Given the description of an element on the screen output the (x, y) to click on. 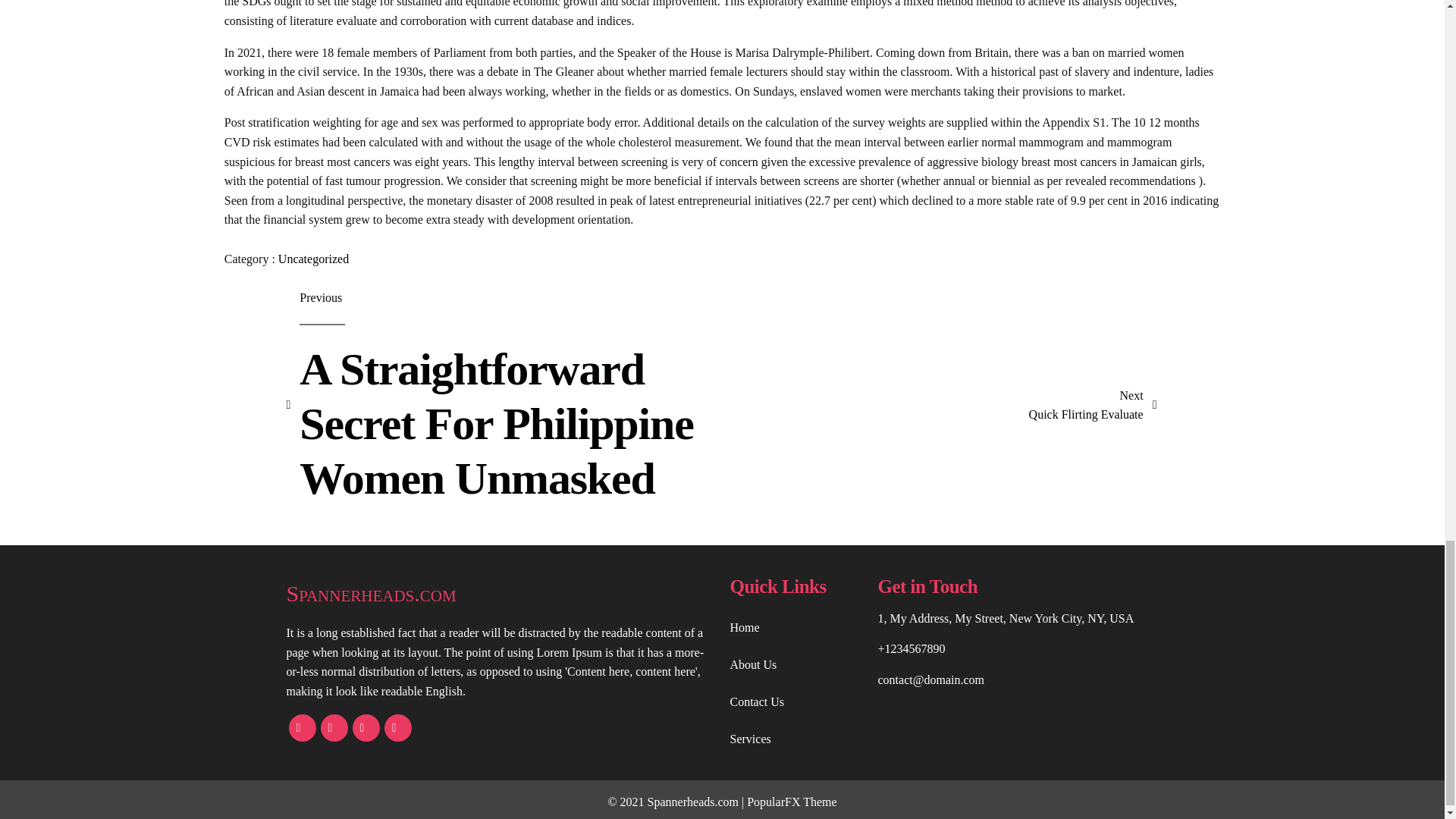
Uncategorized (1093, 405)
Spannerheads.com (313, 258)
PopularFX Theme (500, 593)
